Given the description of an element on the screen output the (x, y) to click on. 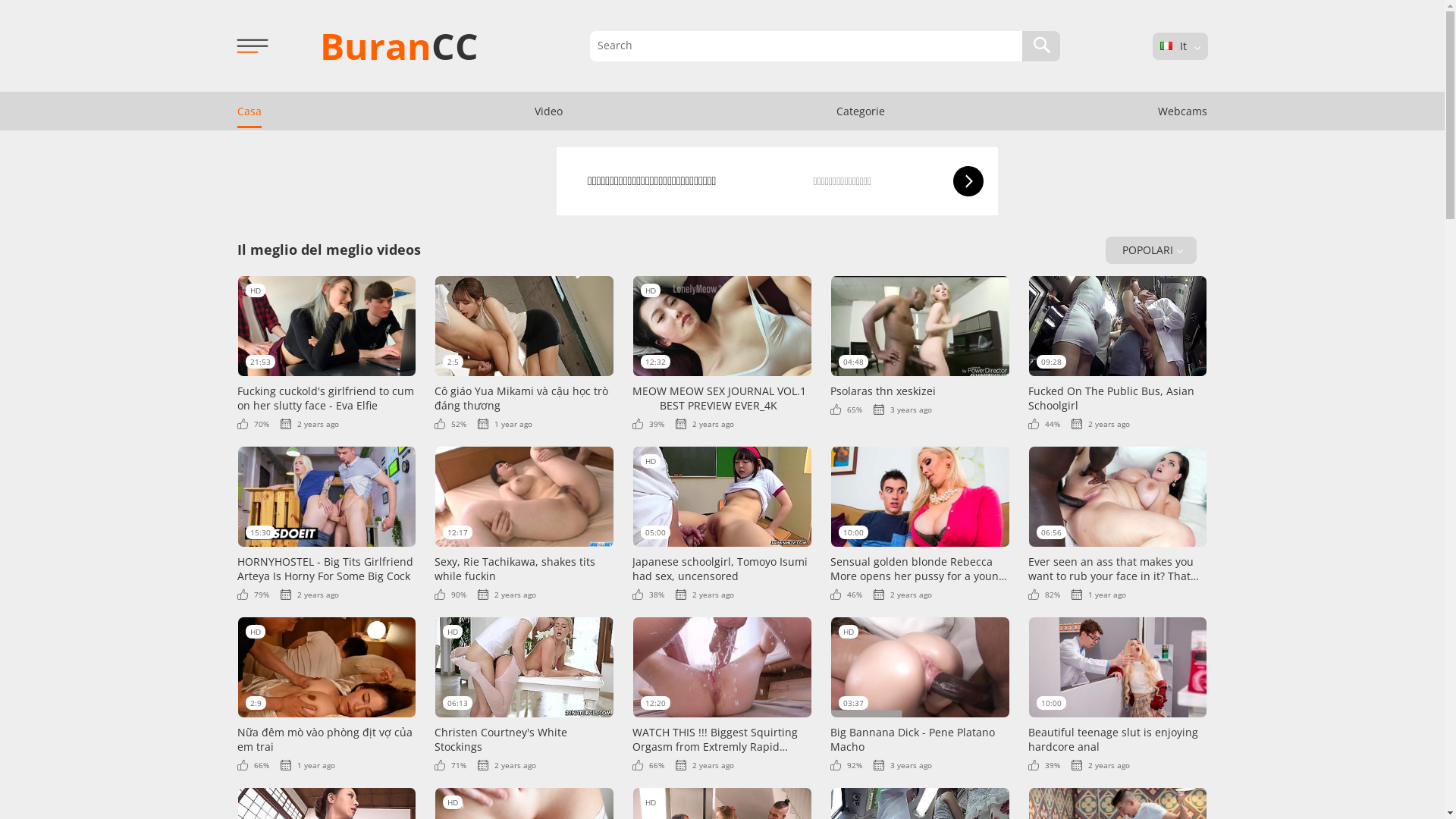
04:48
Psolaras thn xeskizei
65%
3 years ago Element type: text (920, 344)
It Element type: hover (1166, 45)
Casa Element type: text (248, 111)
Webcams Element type: text (1182, 111)
Video Element type: text (548, 111)
BuranCC Element type: text (399, 45)
HD
06:13
Christen Courtney's White Stockings
71%
2 years ago Element type: text (524, 693)
Categorie Element type: text (860, 111)
